Given the description of an element on the screen output the (x, y) to click on. 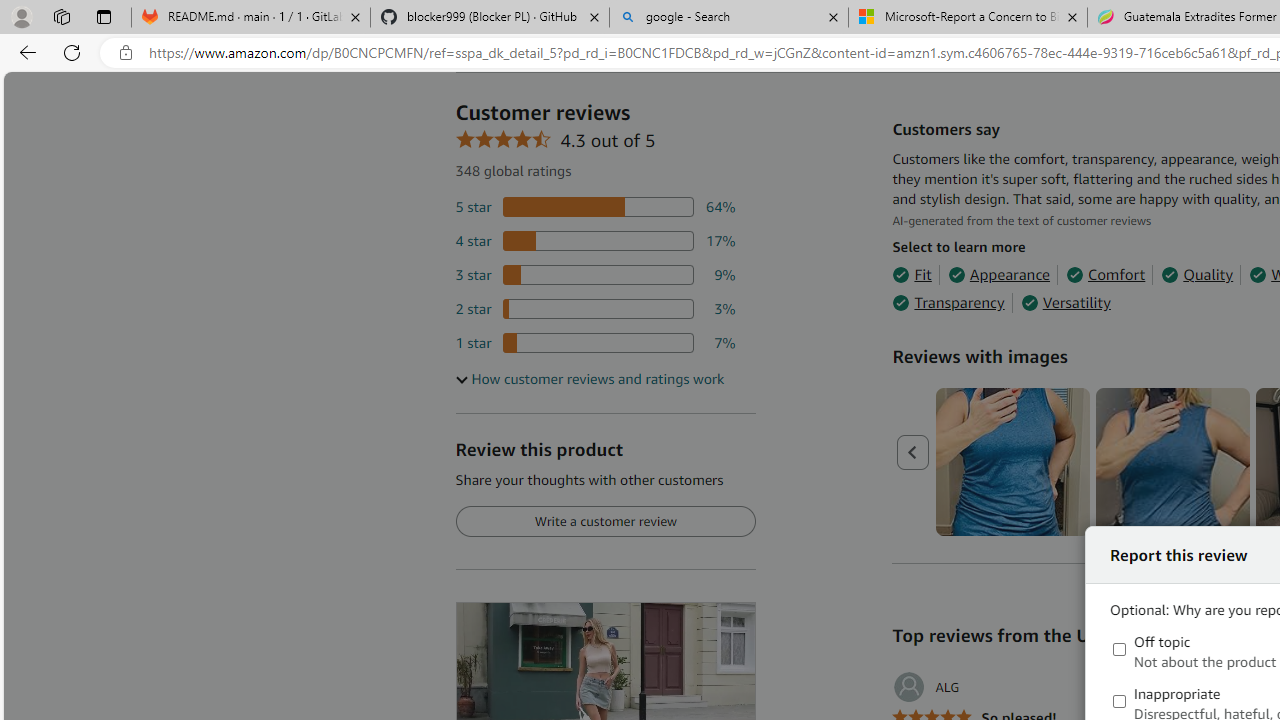
Customer Image (1172, 462)
Fit (911, 274)
